Given the description of an element on the screen output the (x, y) to click on. 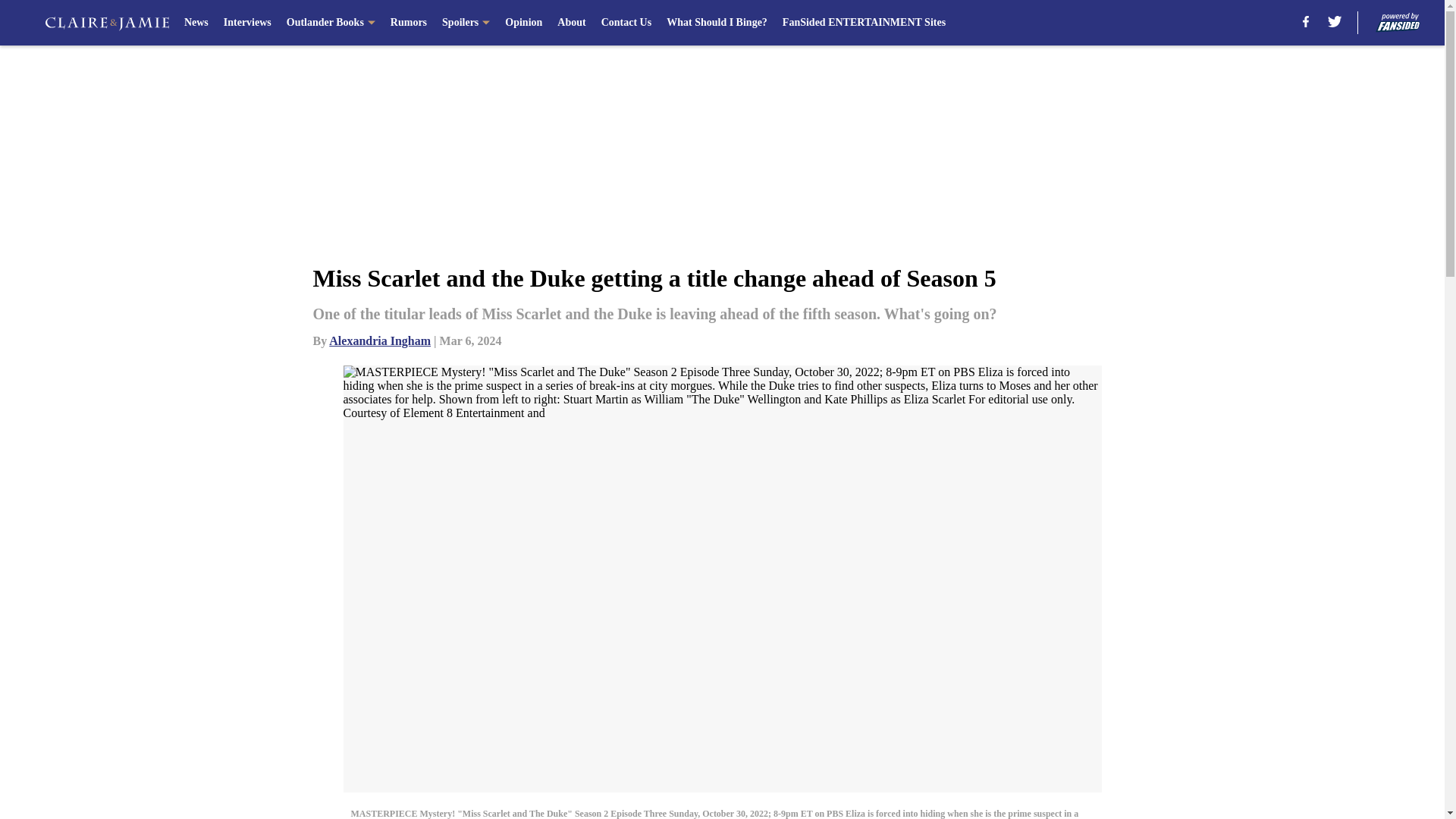
FanSided ENTERTAINMENT Sites (863, 22)
Rumors (408, 22)
What Should I Binge? (716, 22)
About (571, 22)
Alexandria Ingham (379, 340)
Contact Us (626, 22)
Interviews (247, 22)
News (196, 22)
Opinion (523, 22)
